Given the description of an element on the screen output the (x, y) to click on. 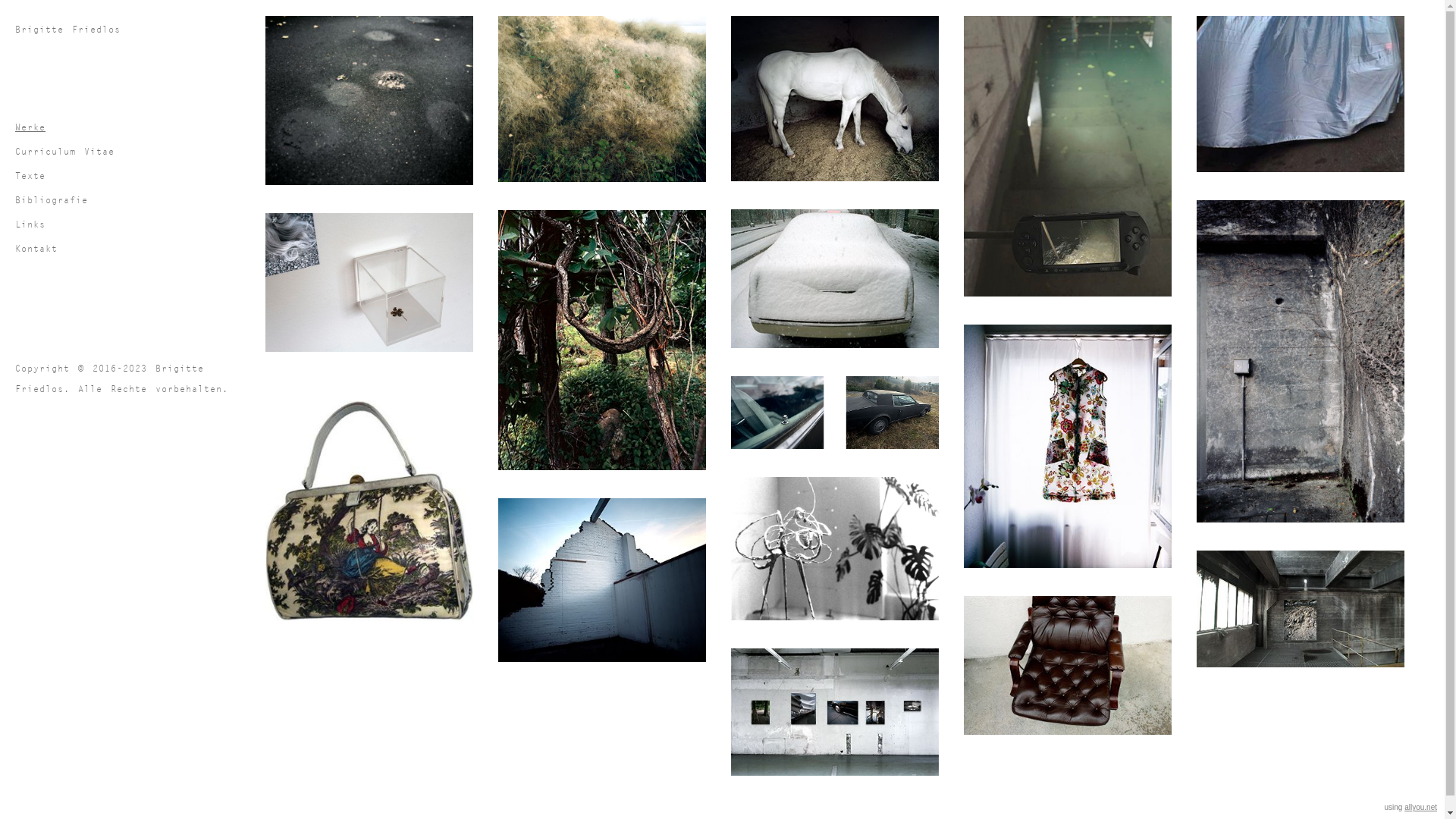
Werke Element type: text (136, 126)
Texte Element type: text (136, 175)
Bibliografie Element type: text (136, 199)
Links Element type: text (136, 223)
Kontakt Element type: text (136, 248)
Brigitte Friedlos Element type: text (136, 28)
allyou.net Element type: text (1420, 807)
Curriculum Vitae Element type: text (136, 151)
